Given the description of an element on the screen output the (x, y) to click on. 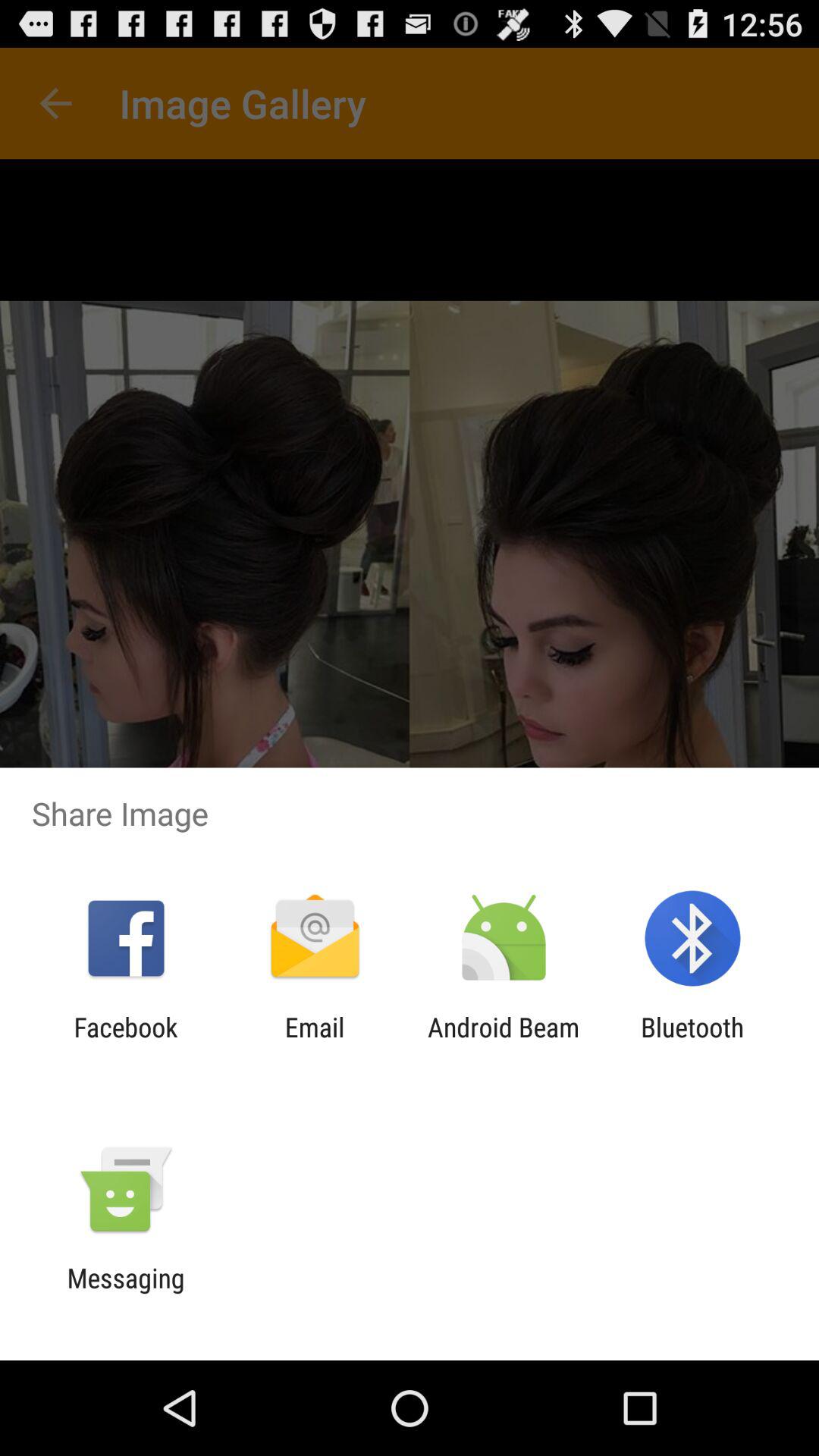
open bluetooth item (691, 1042)
